Given the description of an element on the screen output the (x, y) to click on. 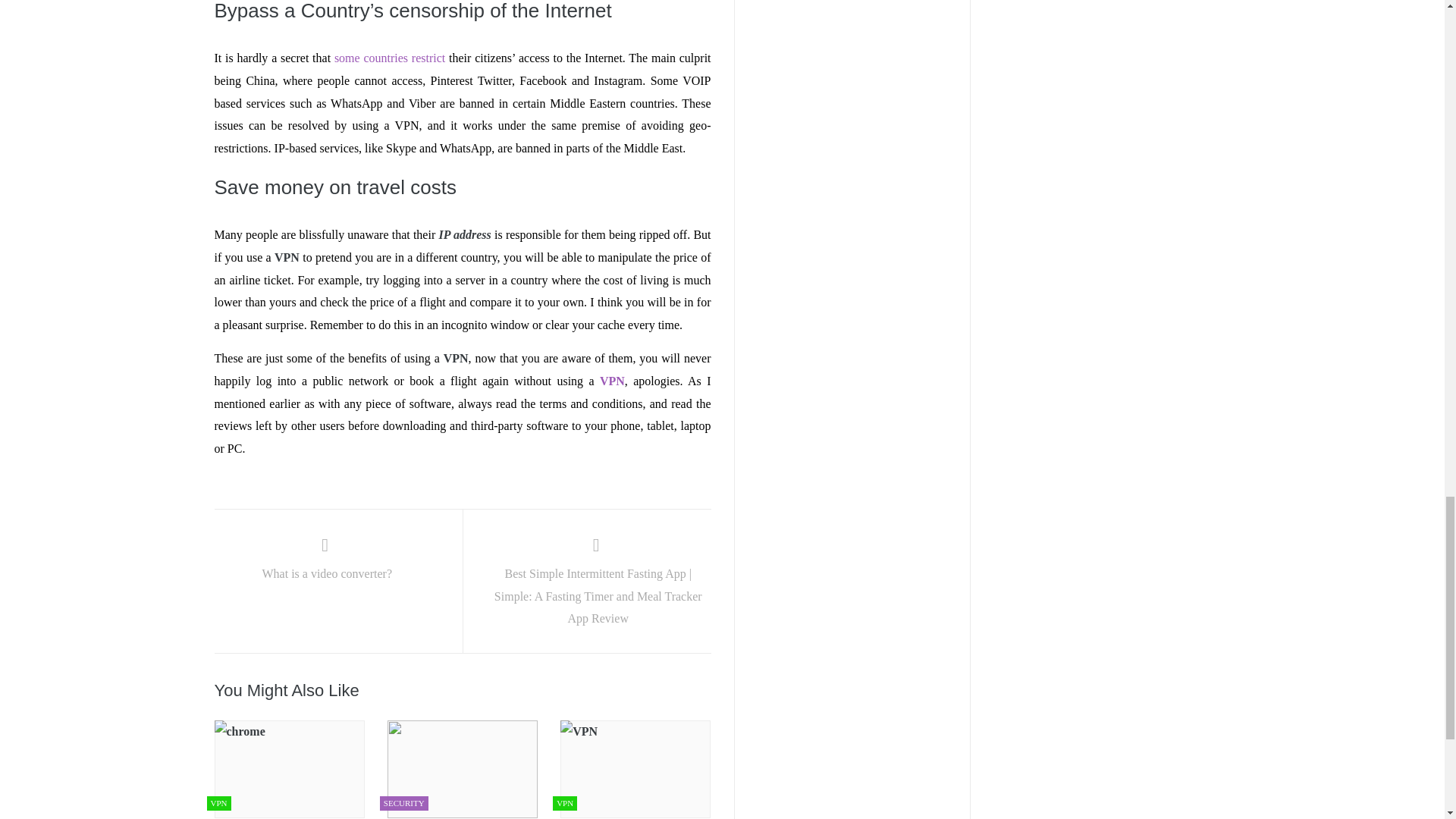
What is a video converter? (326, 560)
VPN (611, 380)
some countries restrict (389, 57)
